Given the description of an element on the screen output the (x, y) to click on. 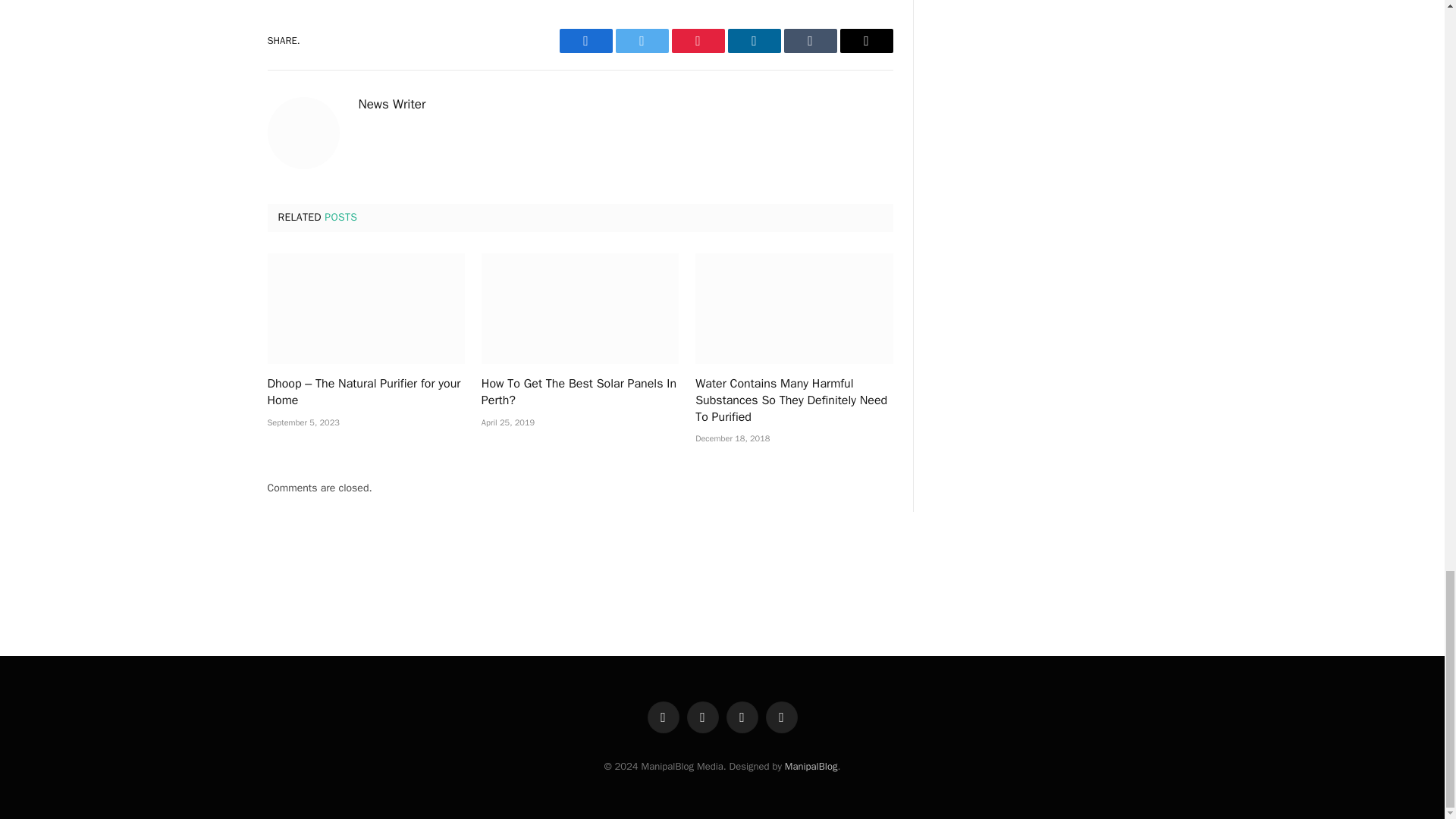
Twitter (641, 40)
Pinterest (698, 40)
Facebook (585, 40)
